Given the description of an element on the screen output the (x, y) to click on. 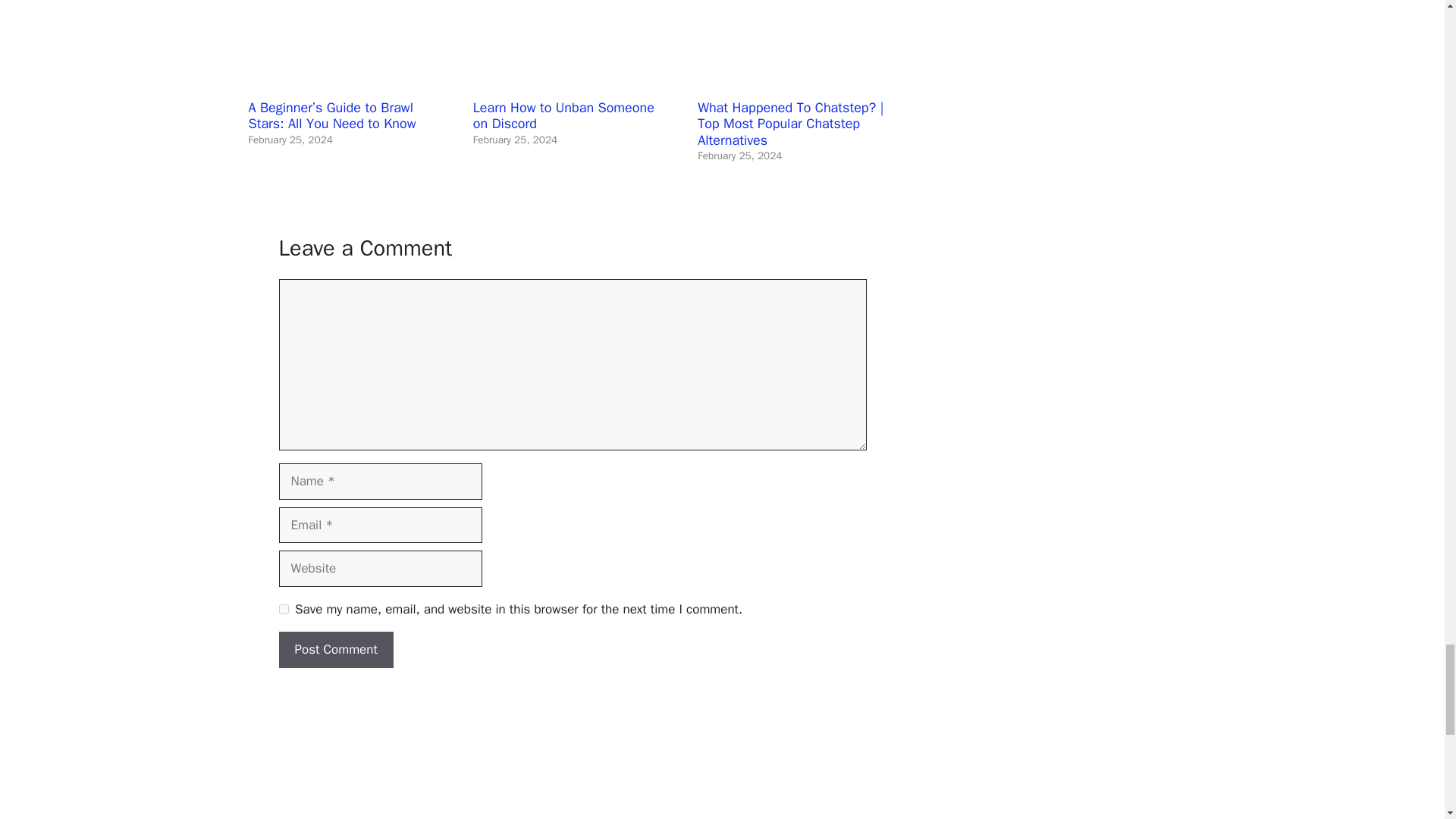
yes (283, 609)
Post Comment (336, 649)
